Given the description of an element on the screen output the (x, y) to click on. 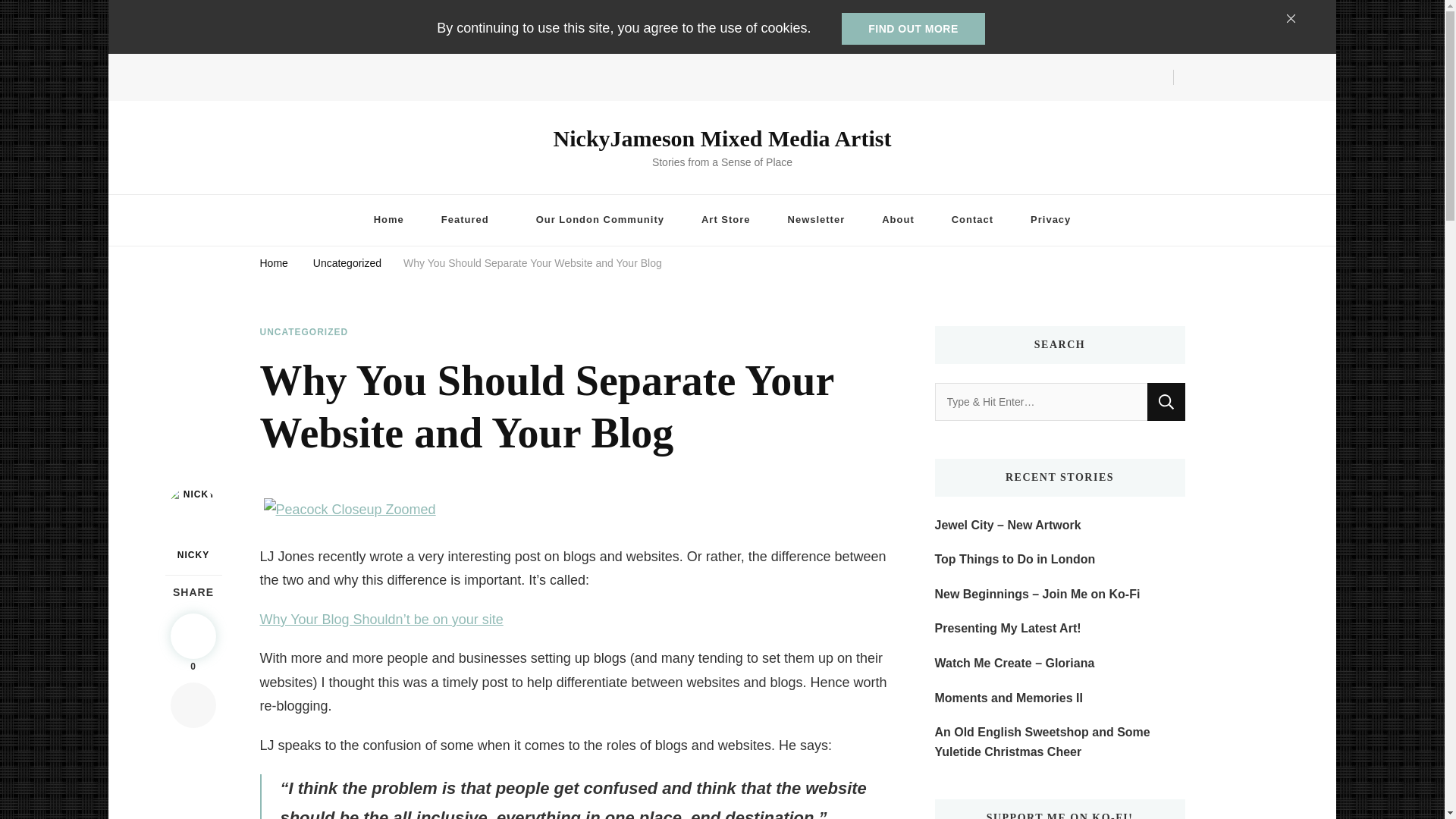
Our London Community (600, 219)
Contact Nicky (972, 219)
Search (1166, 401)
Why You Should Separate Your Website and Your Blog (532, 264)
About Nicky (897, 219)
Peacock Closeup Zoomed by TownieBrit and Harry, on Flickr (354, 498)
Contact (972, 219)
Featured Posts (470, 219)
Art Store (725, 219)
Why your blog shouldn't be on your site (380, 619)
